Given the description of an element on the screen output the (x, y) to click on. 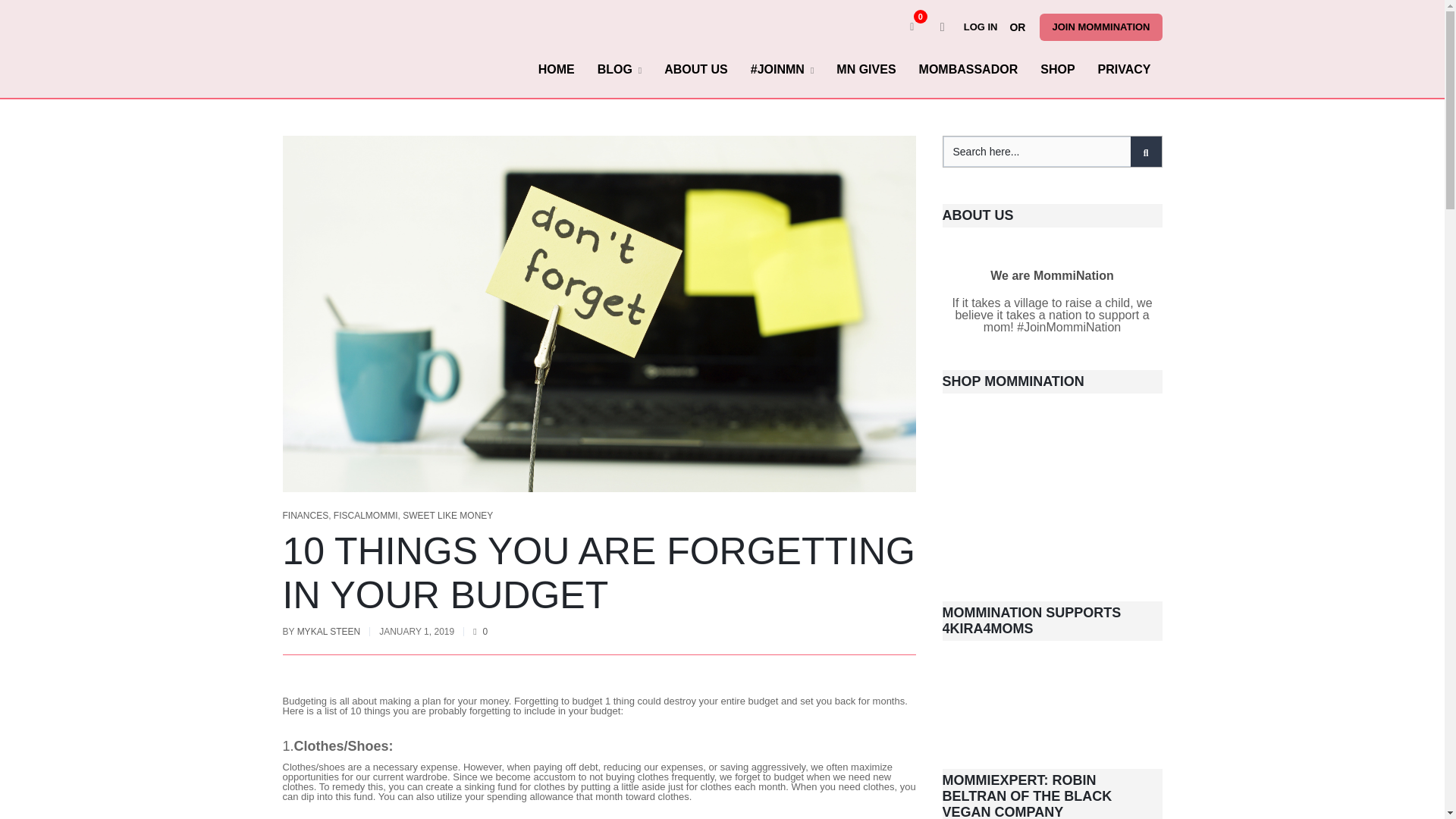
View all posts in FiscalMommi (365, 515)
PRIVACY (1123, 68)
BLOG (619, 68)
SHOP (1057, 68)
Search here... (1052, 151)
Posts by Mykal Steen (329, 631)
0 (911, 26)
LOG IN (984, 26)
MOMBASSADOR (968, 68)
Search here... (1052, 151)
